Given the description of an element on the screen output the (x, y) to click on. 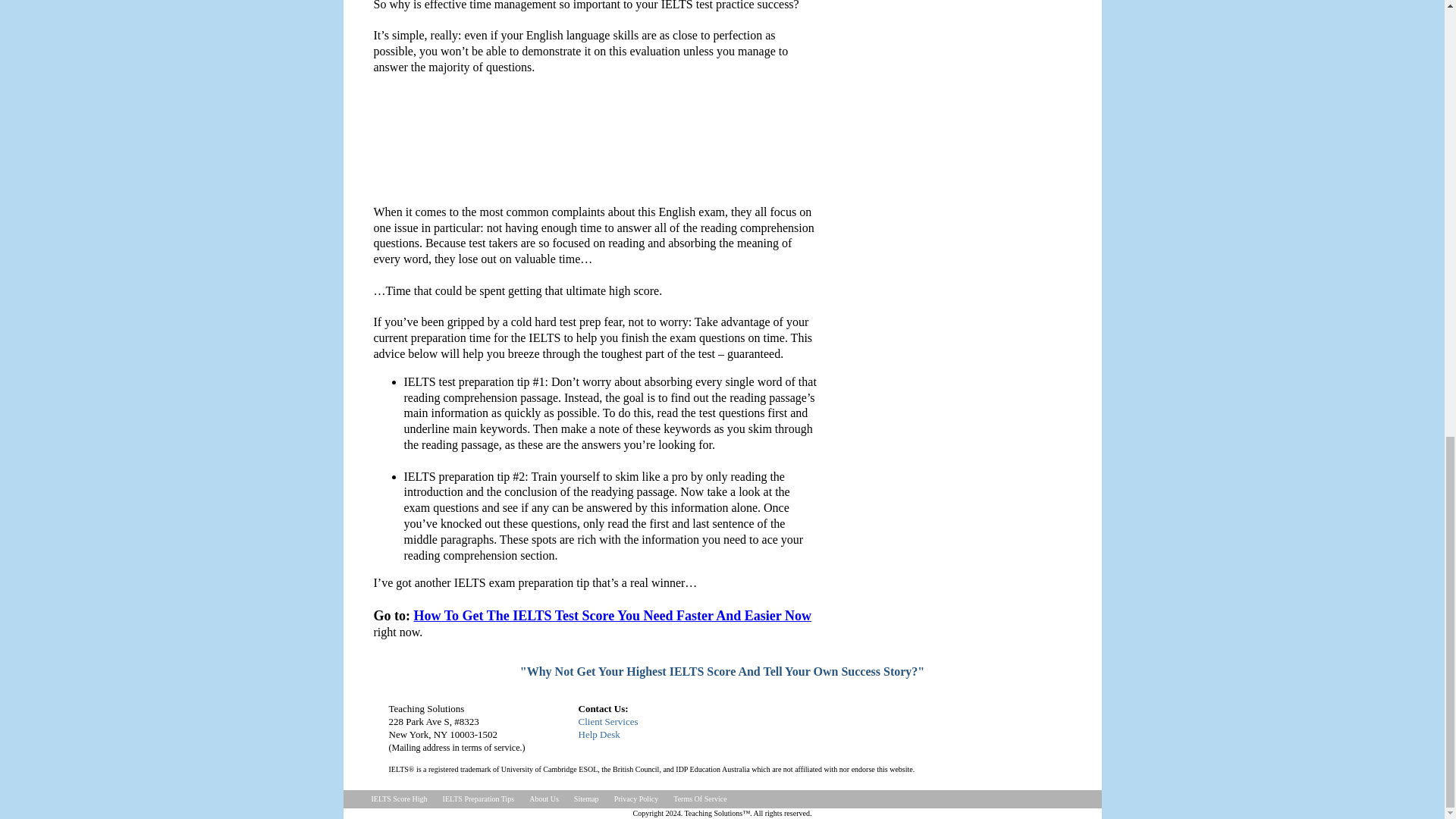
About Us (634, 733)
IELTS Score High (543, 798)
IELTS Preparation Tips (399, 798)
Terms Of Service (478, 798)
Privacy Policy (699, 798)
Sitemap (636, 798)
